Given the description of an element on the screen output the (x, y) to click on. 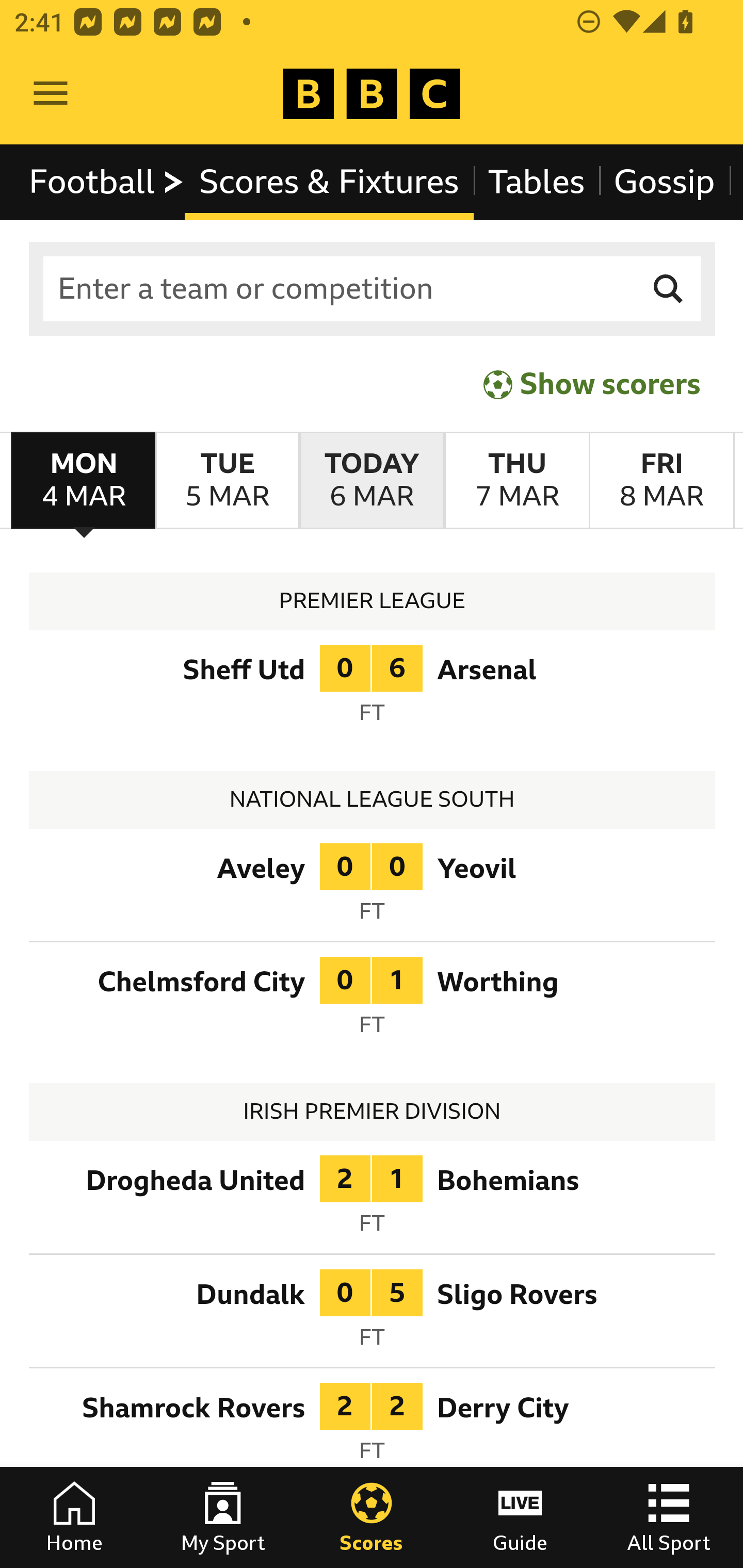
Open Menu (50, 93)
Football  (106, 181)
Scores & Fixtures (329, 181)
Tables (536, 181)
Gossip (664, 181)
Search (669, 289)
Show scorers (591, 383)
TuesdayMarch 5th Tuesday March 5th (227, 480)
TodayMarch 6th Today March 6th (371, 480)
ThursdayMarch 7th Thursday March 7th (516, 480)
FridayMarch 8th Friday March 8th (661, 480)
68399653 Sheffield United 0 Arsenal 6 Full Time (372, 689)
Home (74, 1517)
My Sport (222, 1517)
Guide (519, 1517)
All Sport (668, 1517)
